Given the description of an element on the screen output the (x, y) to click on. 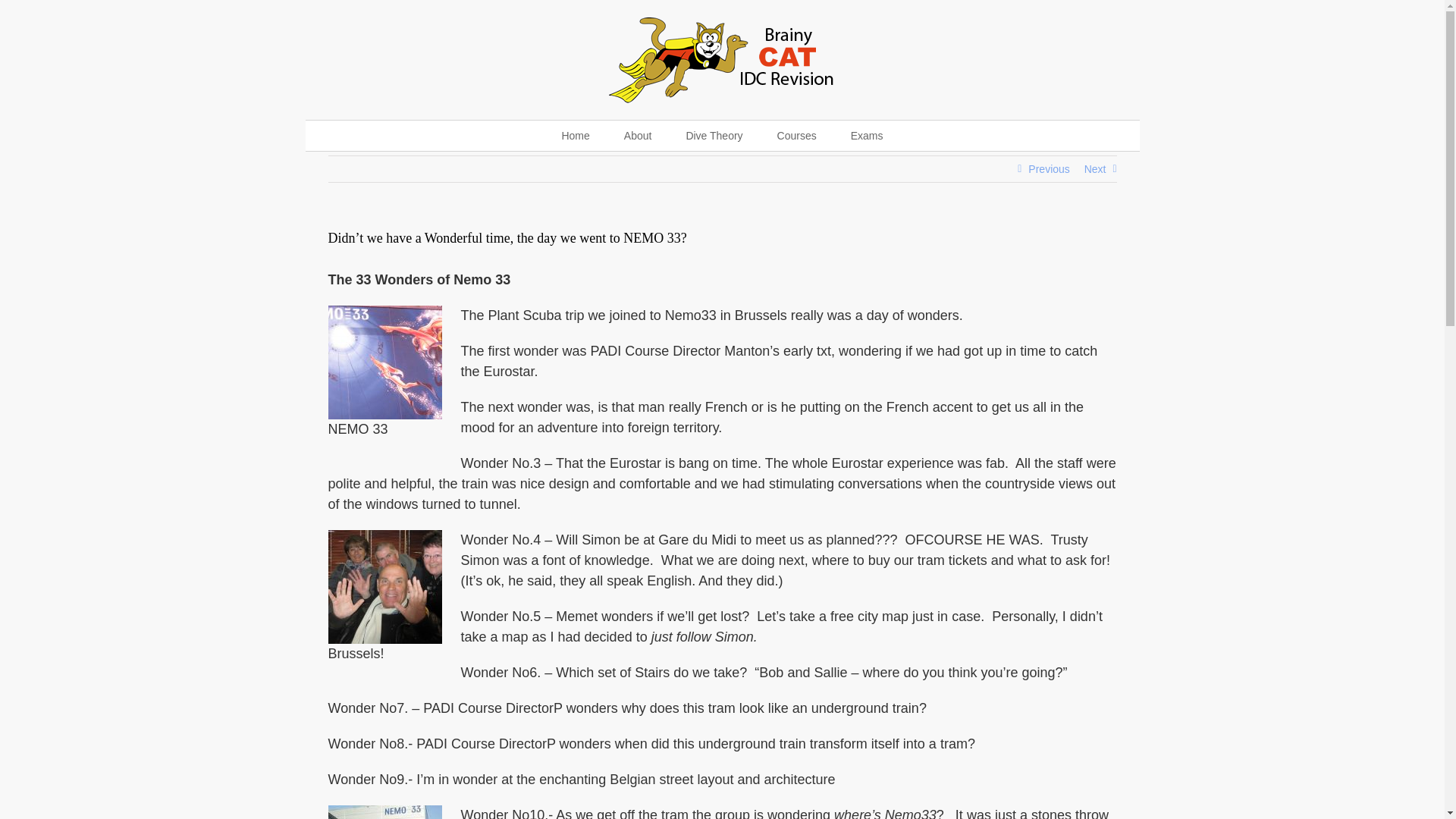
Exams (865, 135)
About PADI Course Director (637, 135)
PADI IDC preparation made easy (714, 135)
www.brainycat.co.uk (575, 135)
Dive Theory (714, 135)
About (637, 135)
Courses (796, 135)
Home (575, 135)
